Given the description of an element on the screen output the (x, y) to click on. 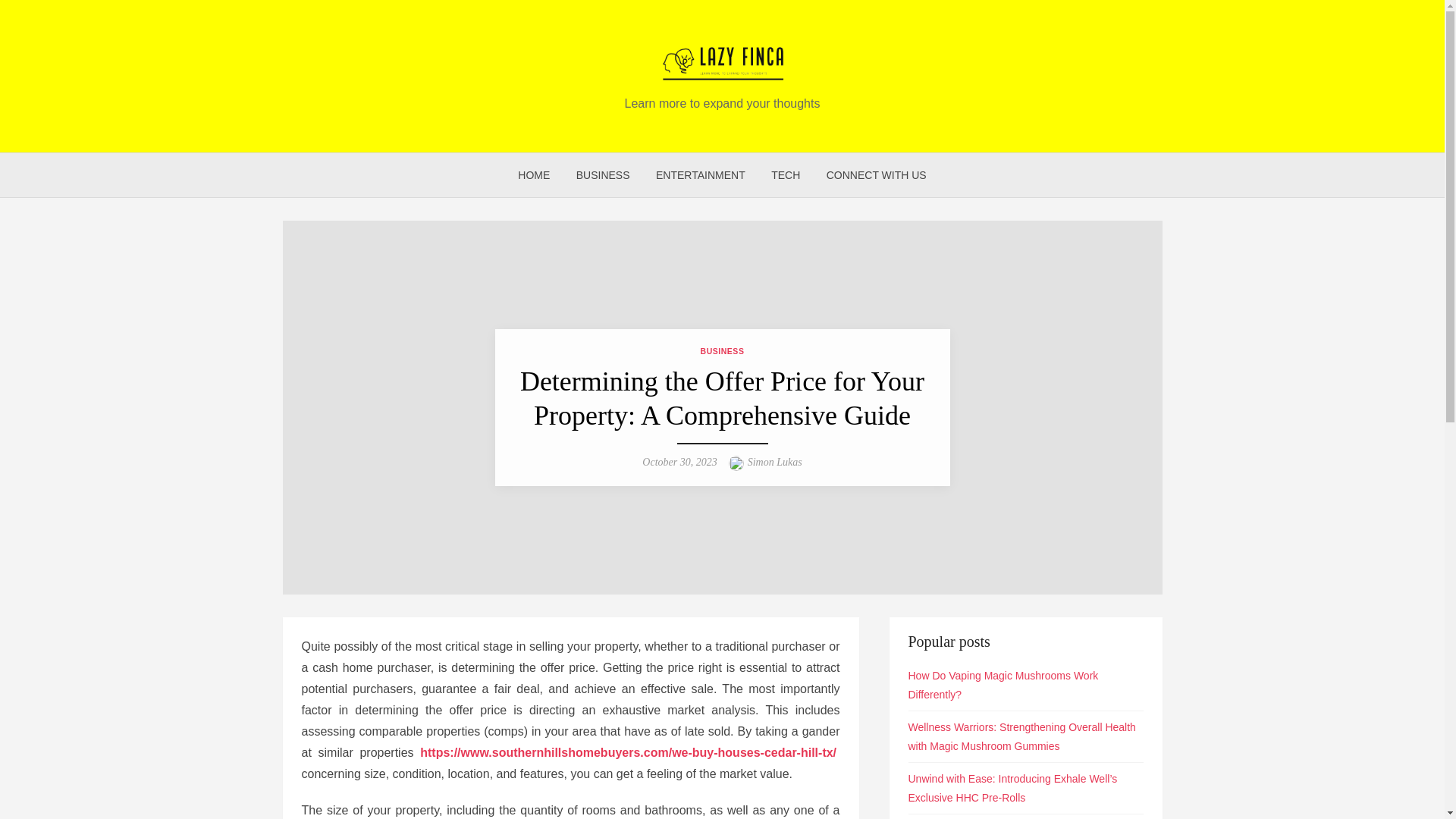
HOME (533, 175)
CONNECT WITH US (876, 175)
Simon Lukas (775, 461)
How Do Vaping Magic Mushrooms Work Differently? (1003, 685)
TECH (785, 175)
ENTERTAINMENT (701, 175)
October 30, 2023 (679, 461)
BUSINESS (603, 175)
BUSINESS (722, 350)
